Given the description of an element on the screen output the (x, y) to click on. 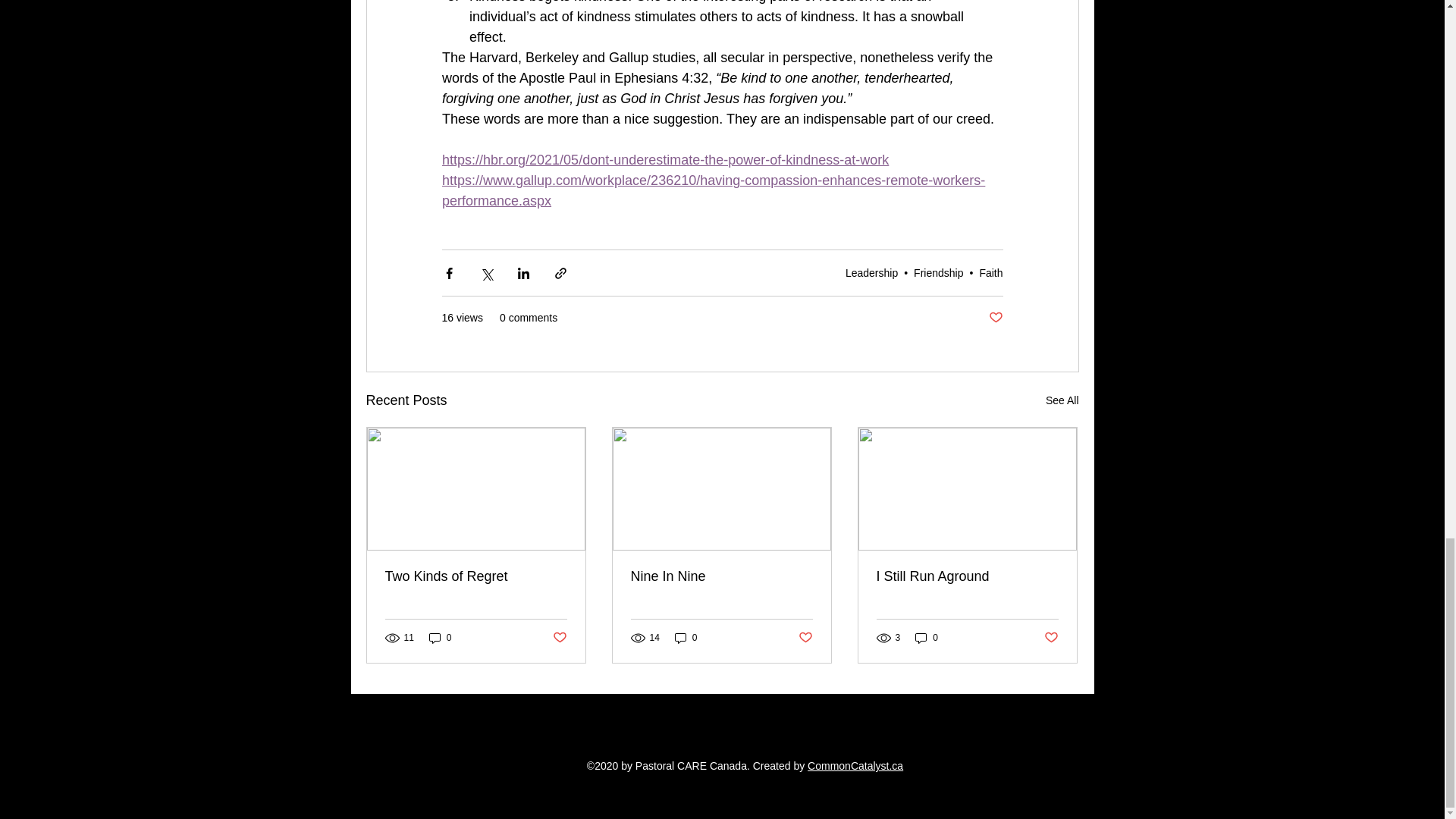
See All (1061, 400)
Leadership (871, 272)
Post not marked as liked (804, 637)
0 (440, 637)
Two Kinds of Regret (476, 576)
I Still Run Aground (967, 576)
Post not marked as liked (558, 637)
Nine In Nine (721, 576)
Post not marked as liked (995, 317)
0 (926, 637)
Faith (990, 272)
Friendship (938, 272)
0 (685, 637)
